Given the description of an element on the screen output the (x, y) to click on. 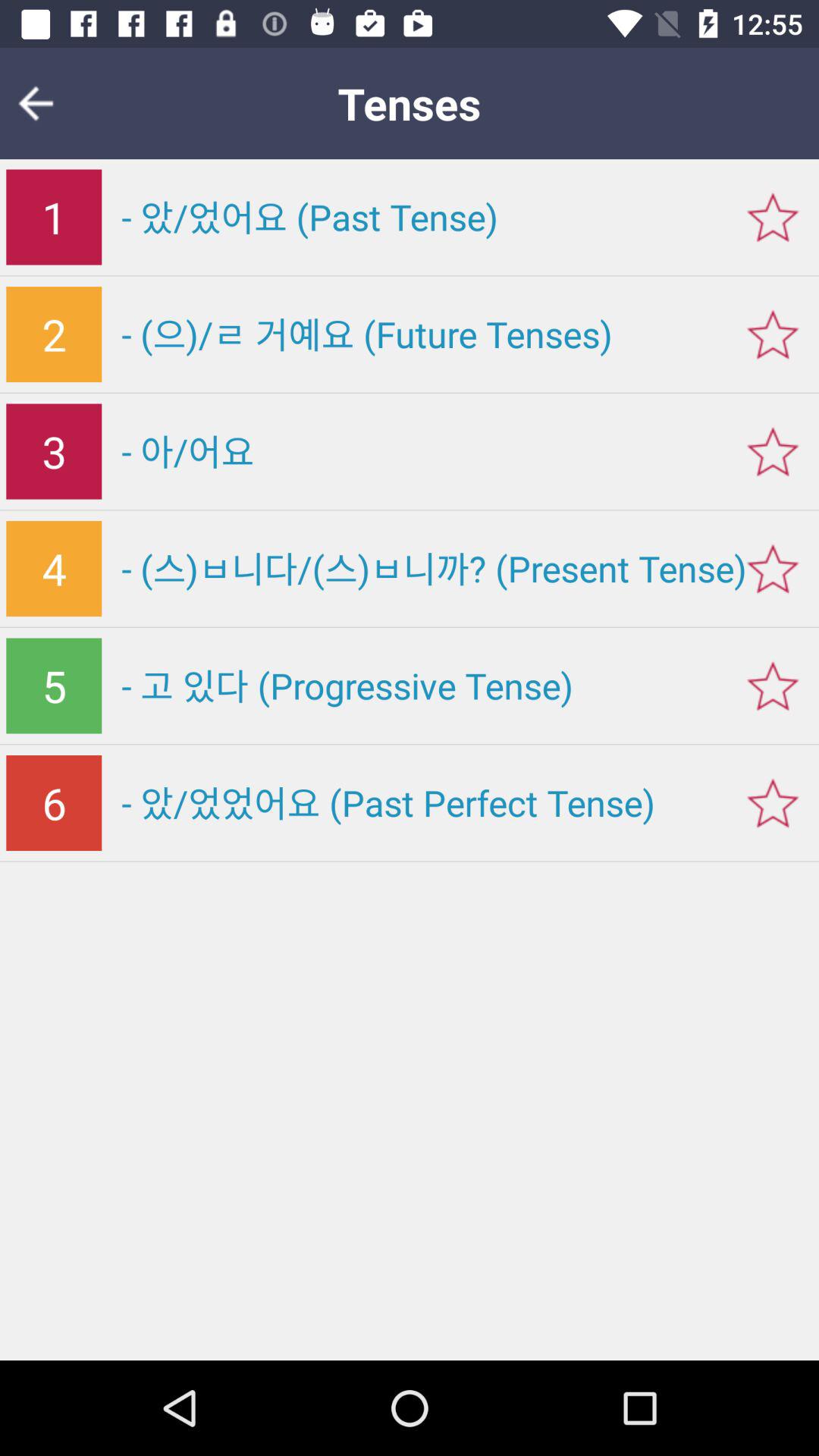
select 5 item (53, 685)
